Given the description of an element on the screen output the (x, y) to click on. 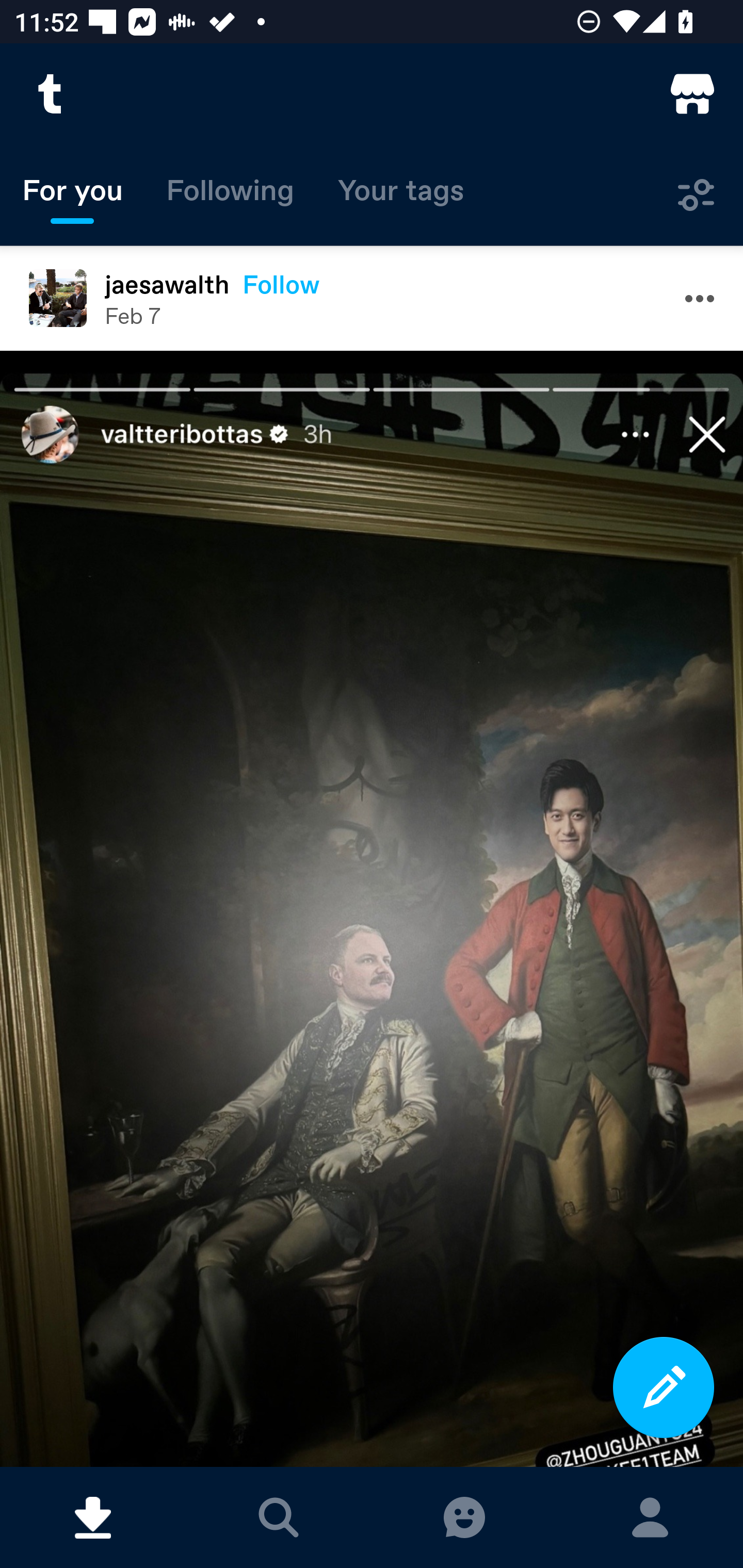
Tumblr (50, 93)
TumblrMart (692, 94)
Following (230, 195)
Your tags (400, 195)
Avatar frame jaesawalth   jaesawalth Follow Feb 7 (371, 298)
Follow (281, 283)
Compose a new post (663, 1387)
DASHBOARD (92, 1517)
EXPLORE (278, 1517)
MESSAGES (464, 1517)
ACCOUNT (650, 1517)
